Given the description of an element on the screen output the (x, y) to click on. 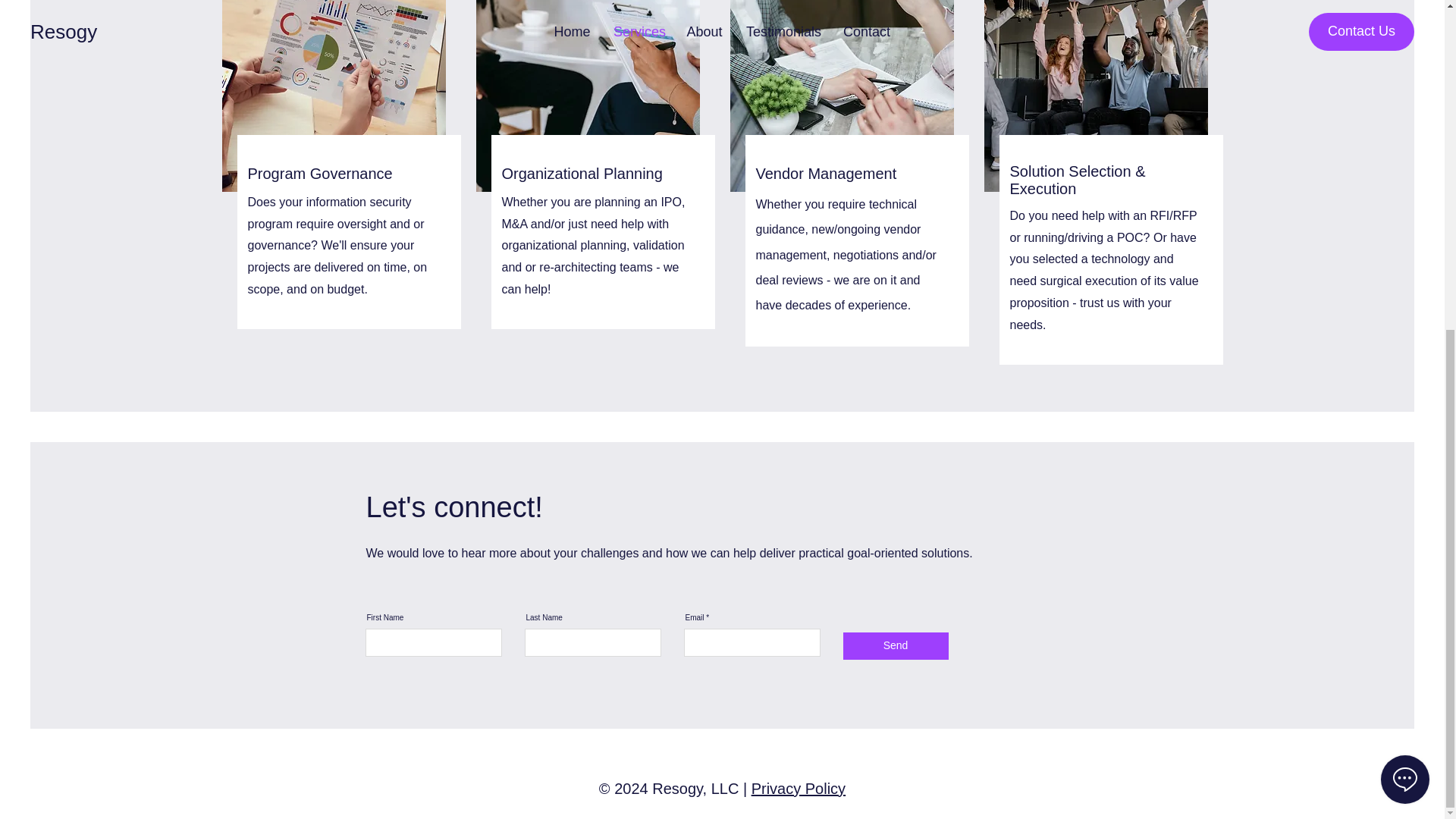
Send (896, 646)
Privacy Policy (798, 788)
